Given the description of an element on the screen output the (x, y) to click on. 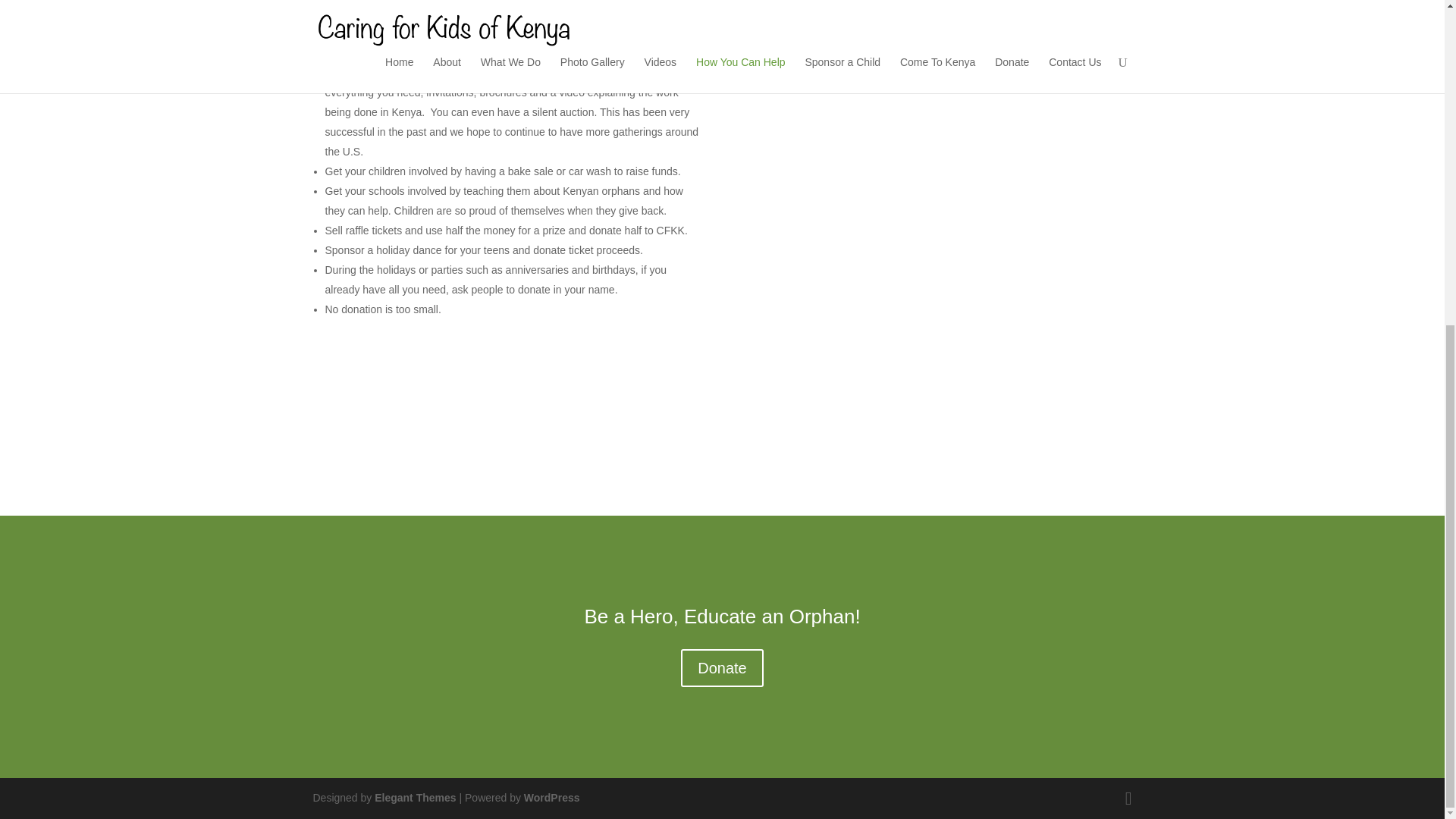
WordPress (551, 797)
Premium WordPress Themes (414, 797)
Donate (721, 668)
Elegant Themes (414, 797)
